Given the description of an element on the screen output the (x, y) to click on. 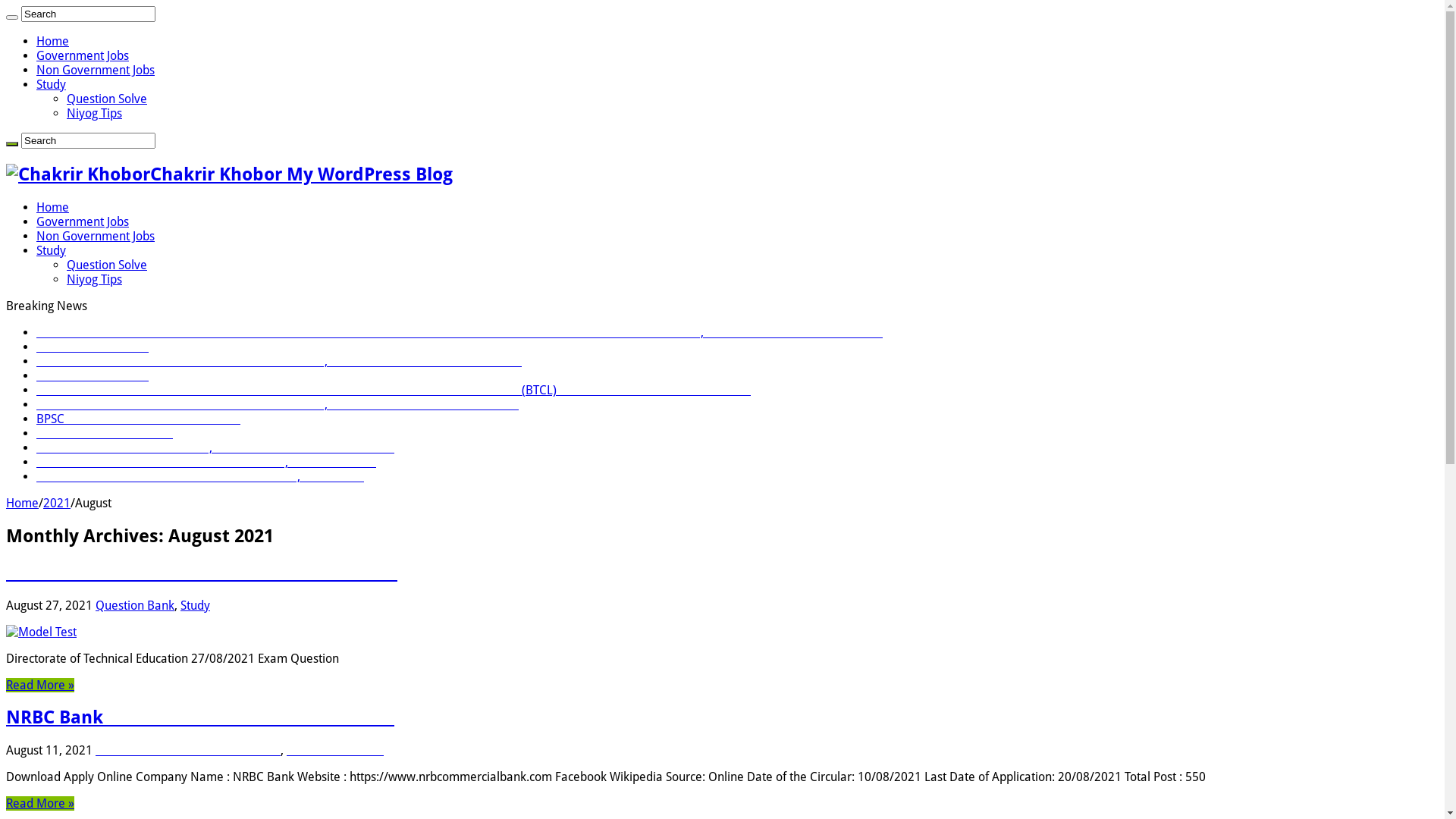
Government Jobs Element type: text (82, 55)
Government Jobs Element type: text (82, 221)
Home Element type: text (52, 207)
Search Element type: text (12, 17)
Home Element type: text (22, 502)
Study Element type: text (50, 84)
Non Government Jobs Element type: text (95, 69)
Question Solve Element type: text (106, 264)
Chakrir Khobor My WordPress Blog Element type: text (229, 174)
Home Element type: text (52, 41)
Study Element type: text (50, 250)
2021 Element type: text (56, 502)
Question Bank Element type: text (134, 605)
Study Element type: text (195, 605)
Question Solve Element type: text (106, 98)
Search Element type: text (12, 143)
Non Government Jobs Element type: text (95, 236)
Search Element type: hover (88, 140)
Niyog Tips Element type: text (94, 279)
Search Element type: hover (88, 13)
Niyog Tips Element type: text (94, 113)
